Given the description of an element on the screen output the (x, y) to click on. 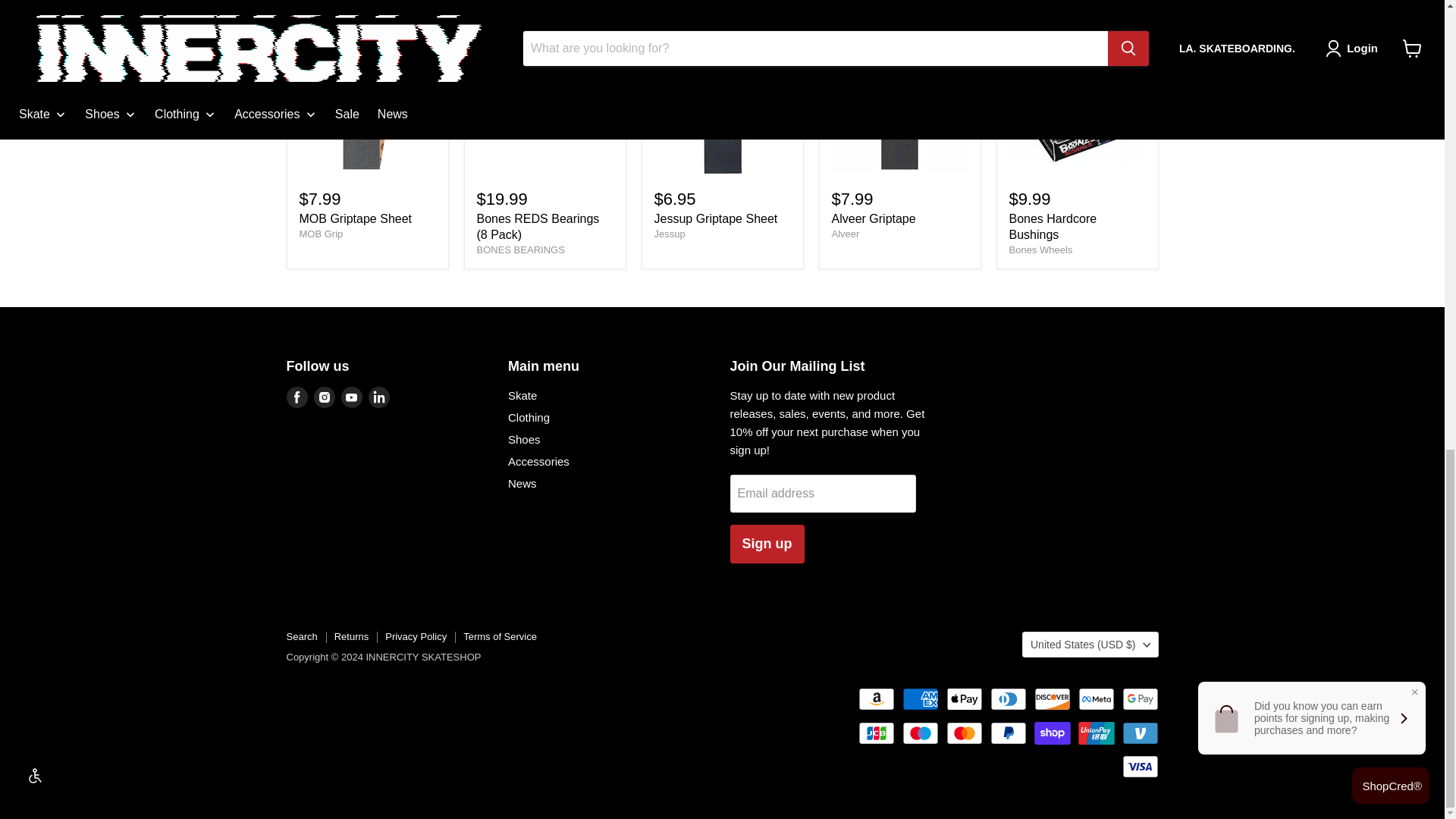
Youtube (351, 396)
Alveer (845, 233)
Facebook (296, 396)
LinkedIn (379, 396)
Instagram (324, 396)
Jessup (668, 233)
MOB Grip (320, 233)
Bones Wheels (1040, 249)
BONES BEARINGS (520, 249)
